Given the description of an element on the screen output the (x, y) to click on. 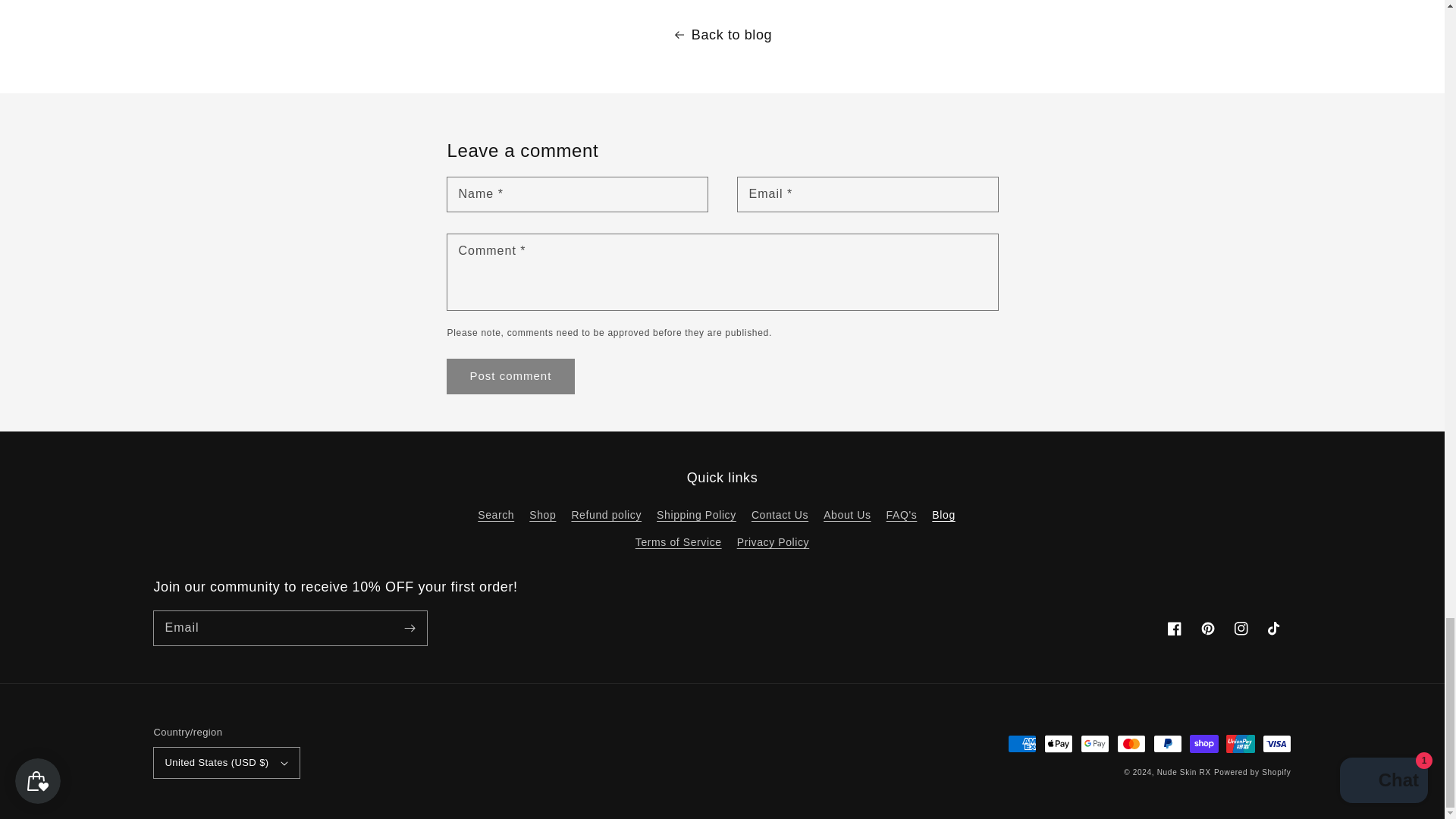
Shop (542, 515)
Privacy Policy (772, 542)
Terms of Service (678, 542)
Refund policy (606, 515)
FAQ's (901, 515)
Blog (943, 515)
Post comment (510, 376)
Post comment (510, 376)
Contact Us (779, 515)
Search (495, 517)
Shipping Policy (696, 515)
About Us (847, 515)
